Given the description of an element on the screen output the (x, y) to click on. 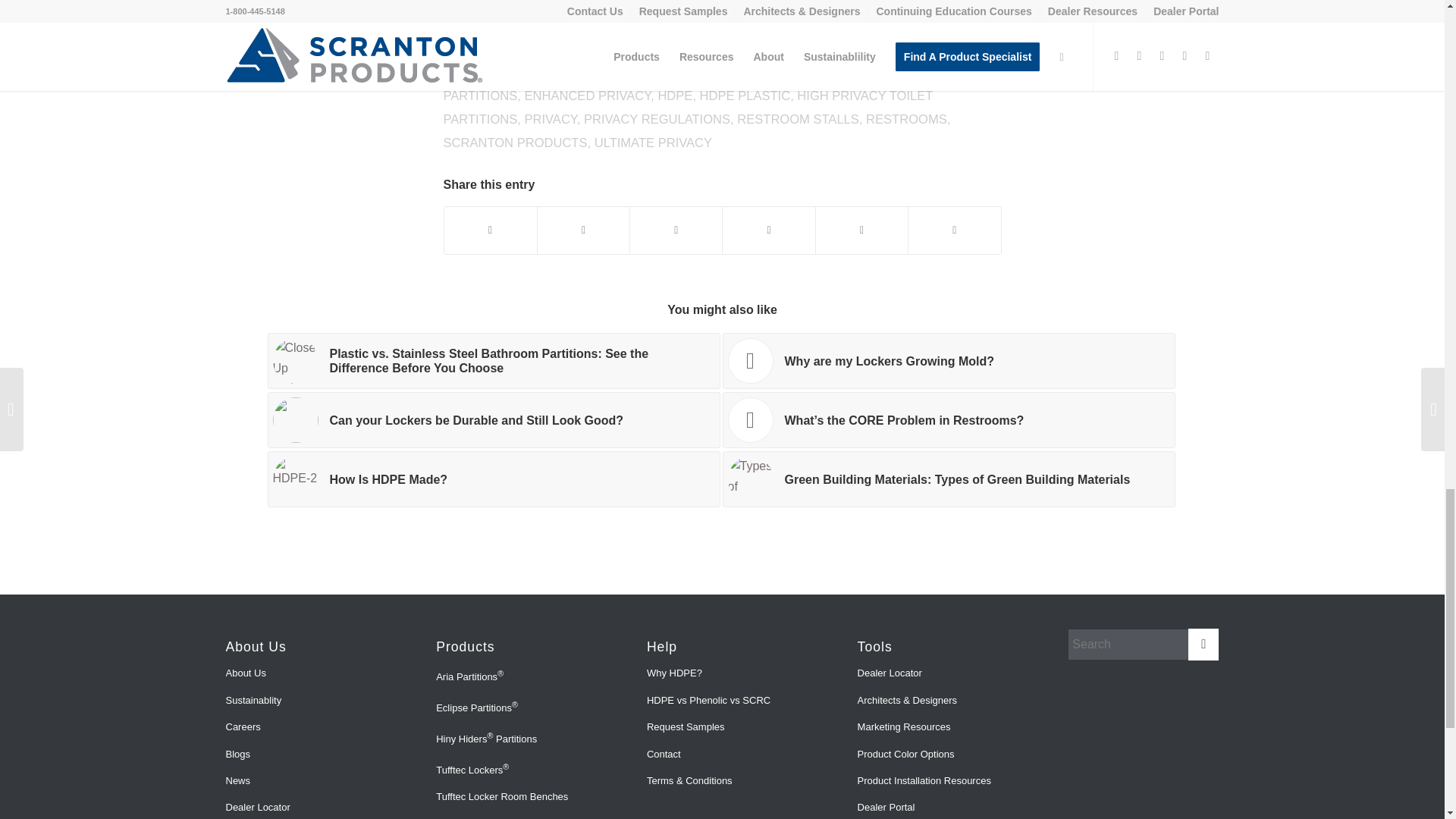
Close Up Stainless EX Texture (295, 361)
Why are my Lockers Growing Mold? (948, 360)
